Given the description of an element on the screen output the (x, y) to click on. 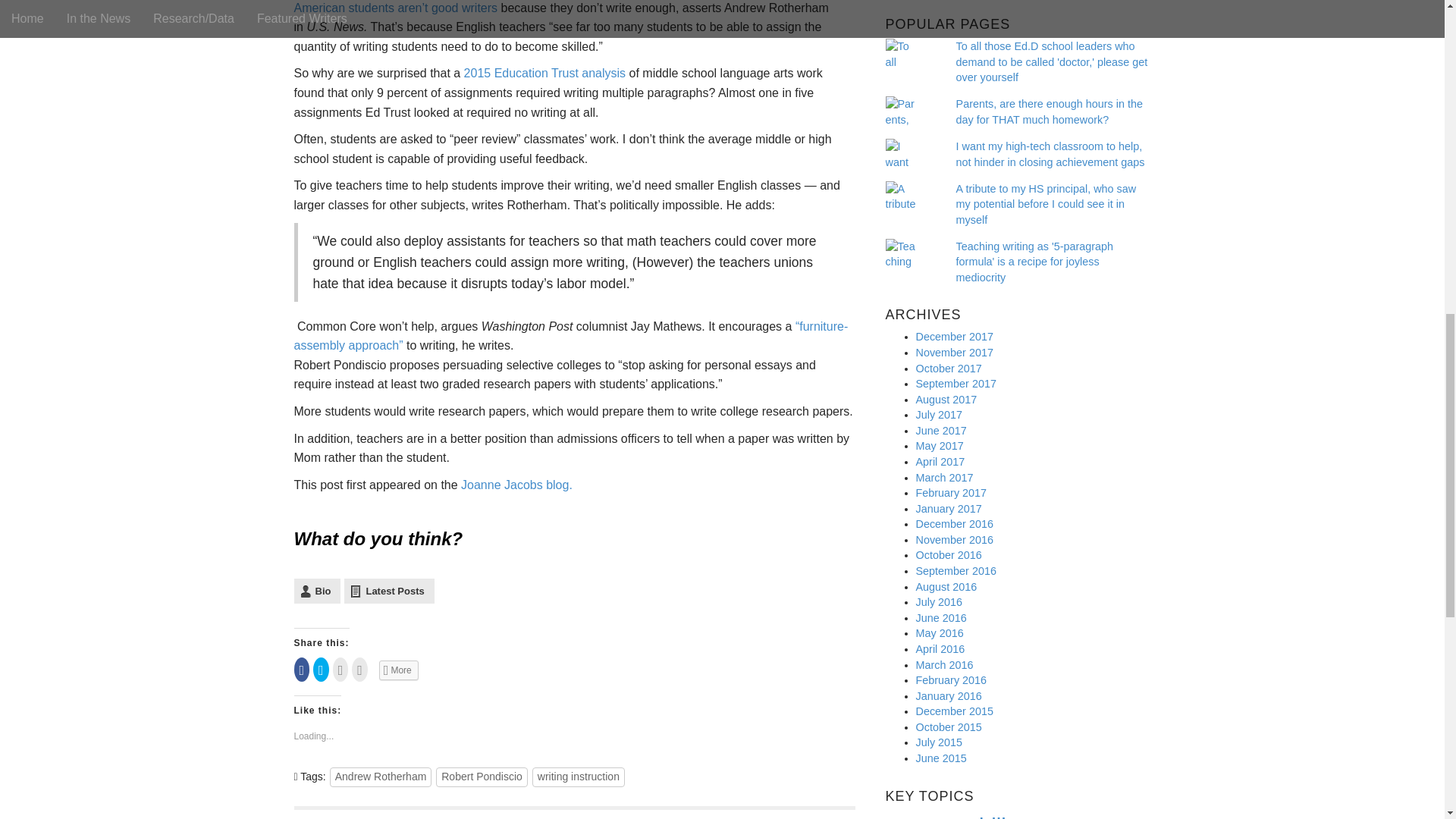
Joanne Jacobs blog. (515, 484)
Bio (317, 590)
Latest Posts (388, 590)
Andrew Rotherham (381, 777)
Robert Pondiscio (481, 777)
writing instruction (578, 777)
More (398, 670)
2015 Education Trust analysis (545, 72)
